Given the description of an element on the screen output the (x, y) to click on. 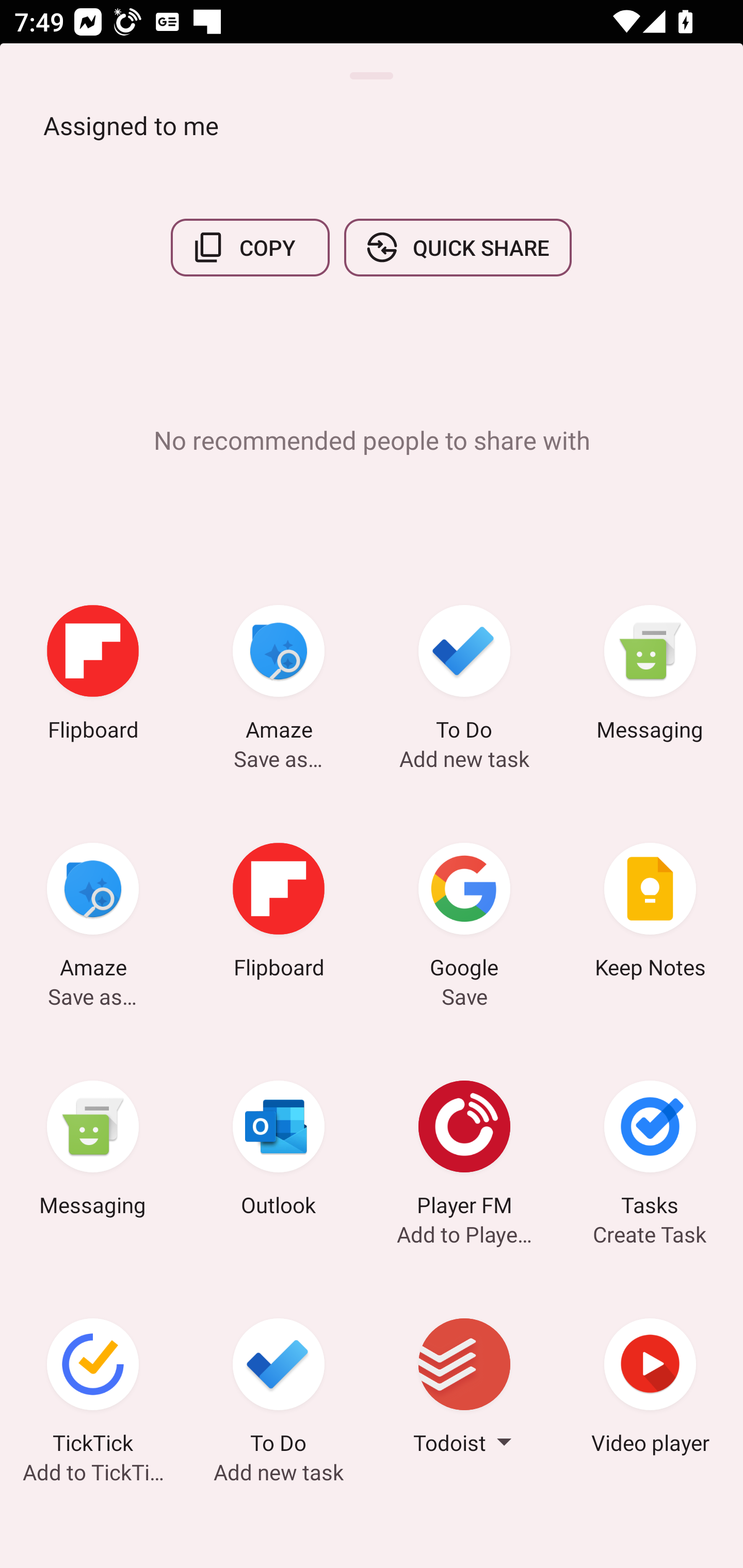
COPY (249, 247)
QUICK SHARE (457, 247)
Flipboard (92, 675)
Amaze Save as… (278, 675)
To Do Add new task (464, 675)
Messaging (650, 675)
Amaze Save as… (92, 913)
Flipboard (278, 913)
Google Save (464, 913)
Keep Notes (650, 913)
Messaging (92, 1151)
Outlook (278, 1151)
Player FM Add to Player FM (464, 1151)
Tasks Create Task (650, 1151)
TickTick Add to TickTick (92, 1389)
To Do Add new task (278, 1389)
Todoist (464, 1389)
Video player (650, 1389)
